Given the description of an element on the screen output the (x, y) to click on. 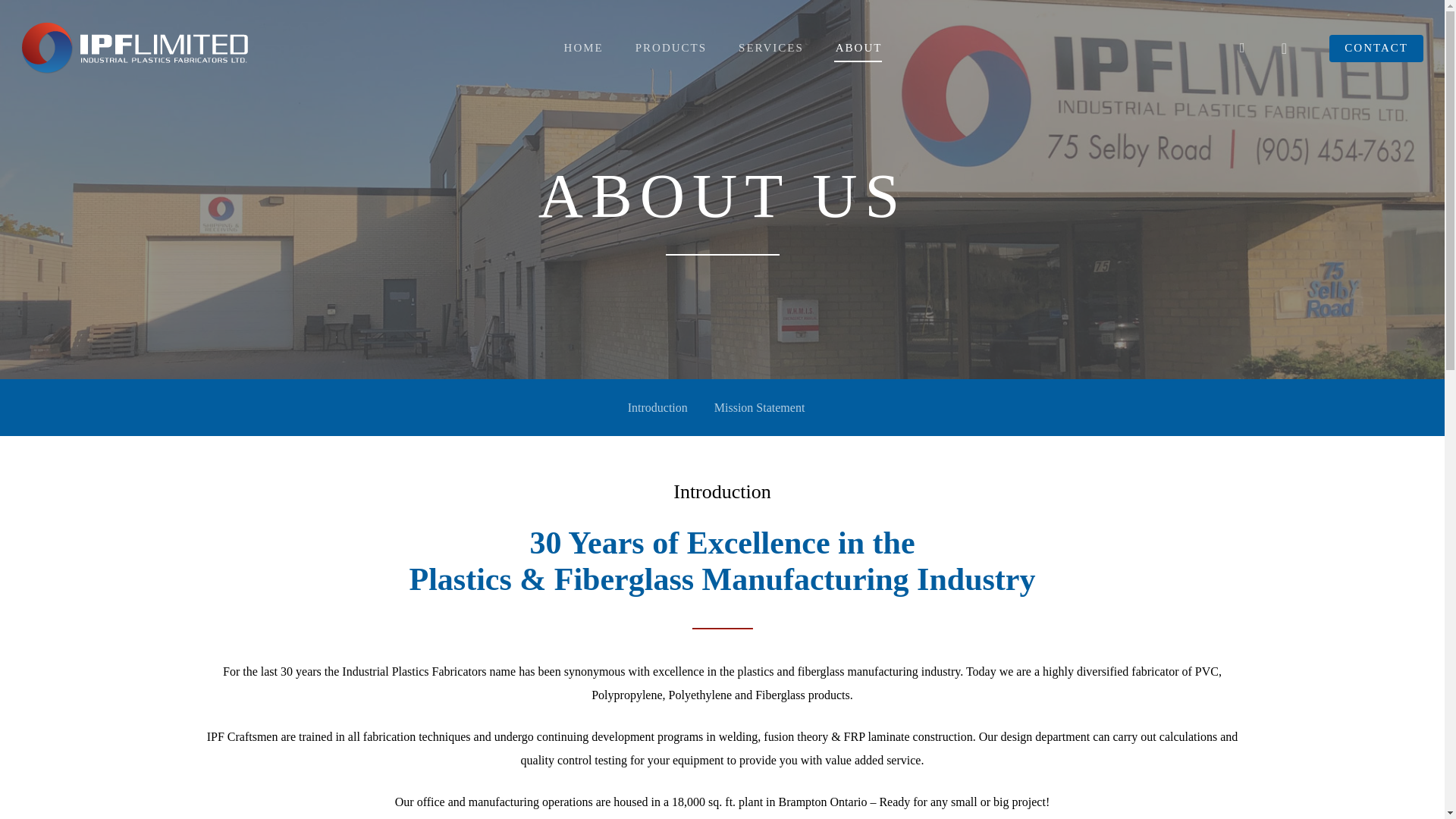
ABOUT (858, 47)
PRODUCTS (669, 47)
HOME (583, 47)
Introduction (657, 407)
SERVICES (769, 47)
CONTACT (1376, 47)
Mission Statement (759, 407)
